Given the description of an element on the screen output the (x, y) to click on. 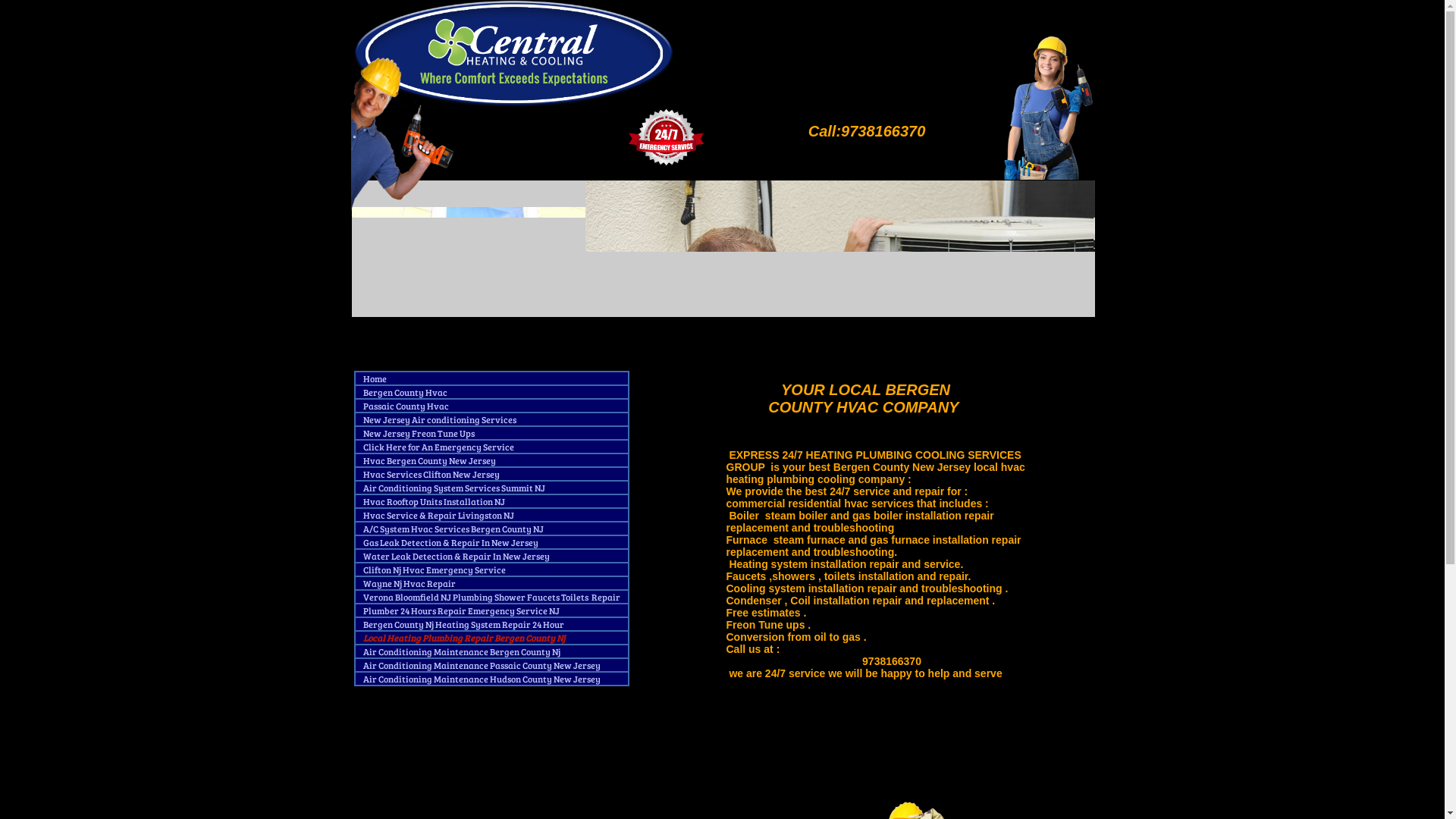
Clifton Nj Hvac Emergency Service Element type: text (433, 572)
Hvac Rooftop Units Installation NJ Element type: text (432, 504)
Local Heating Plumbing Repair Bergen County Nj Element type: text (462, 640)
Bergen County Hvac Element type: text (404, 395)
Gas Leak Detection & Repair In New Jersey Element type: text (449, 545)
Air Conditioning System Services Summit NJ Element type: text (453, 490)
Air Conditioning Maintenance Hudson County New Jersey Element type: text (480, 681)
Click Here for An Emergency Service Element type: text (437, 449)
Bergen County Nj Heating System Repair 24 Hour  Element type: text (463, 627)
New Jersey Air conditioning Services Element type: text (438, 422)
Plumber 24 Hours Repair Emergency Service NJ Element type: text (460, 613)
New Jersey Freon Tune Ups Element type: text (417, 436)
Hvac Bergen County New Jersey  Element type: text (429, 463)
Air Conditioning Maintenance Bergen County Nj Element type: text (460, 654)
A/C System Hvac Services Bergen County NJ Element type: text (452, 531)
Wayne Nj Hvac Repair  Element type: text (409, 586)
Passaic County Hvac Element type: text (404, 408)
Home Element type: text (373, 381)
Water Leak Detection & Repair In New Jersey Element type: text (455, 558)
Air Conditioning Maintenance Passaic County New Jersey  Element type: text (481, 668)
Hvac Services Clifton New Jersey Element type: text (430, 476)
Hvac Service & Repair Livingston NJ Element type: text (437, 517)
Verona Bloomfield NJ Plumbing Shower Faucets Toilets  Repair Element type: text (490, 599)
